Given the description of an element on the screen output the (x, y) to click on. 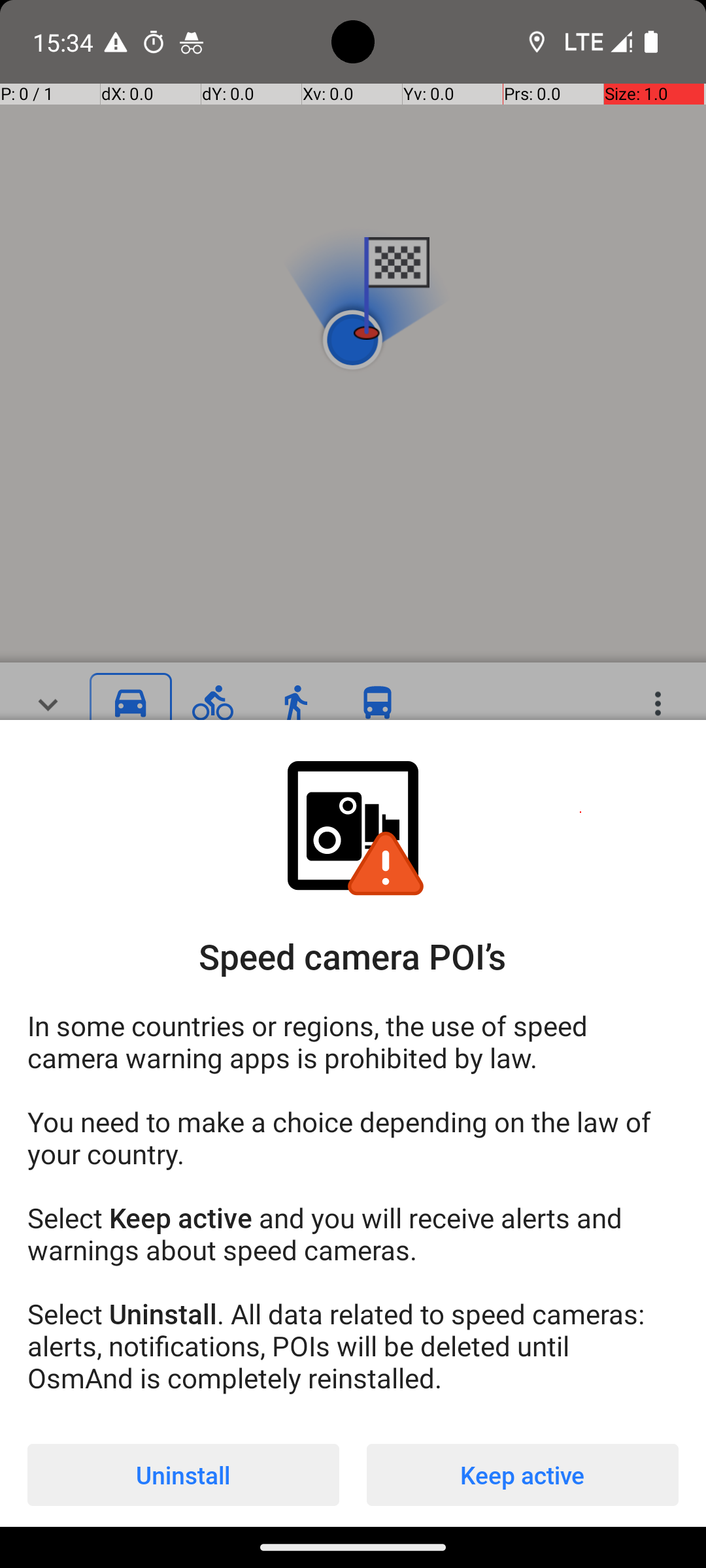
Close the dialog Element type: android.view.View (353, 388)
